Given the description of an element on the screen output the (x, y) to click on. 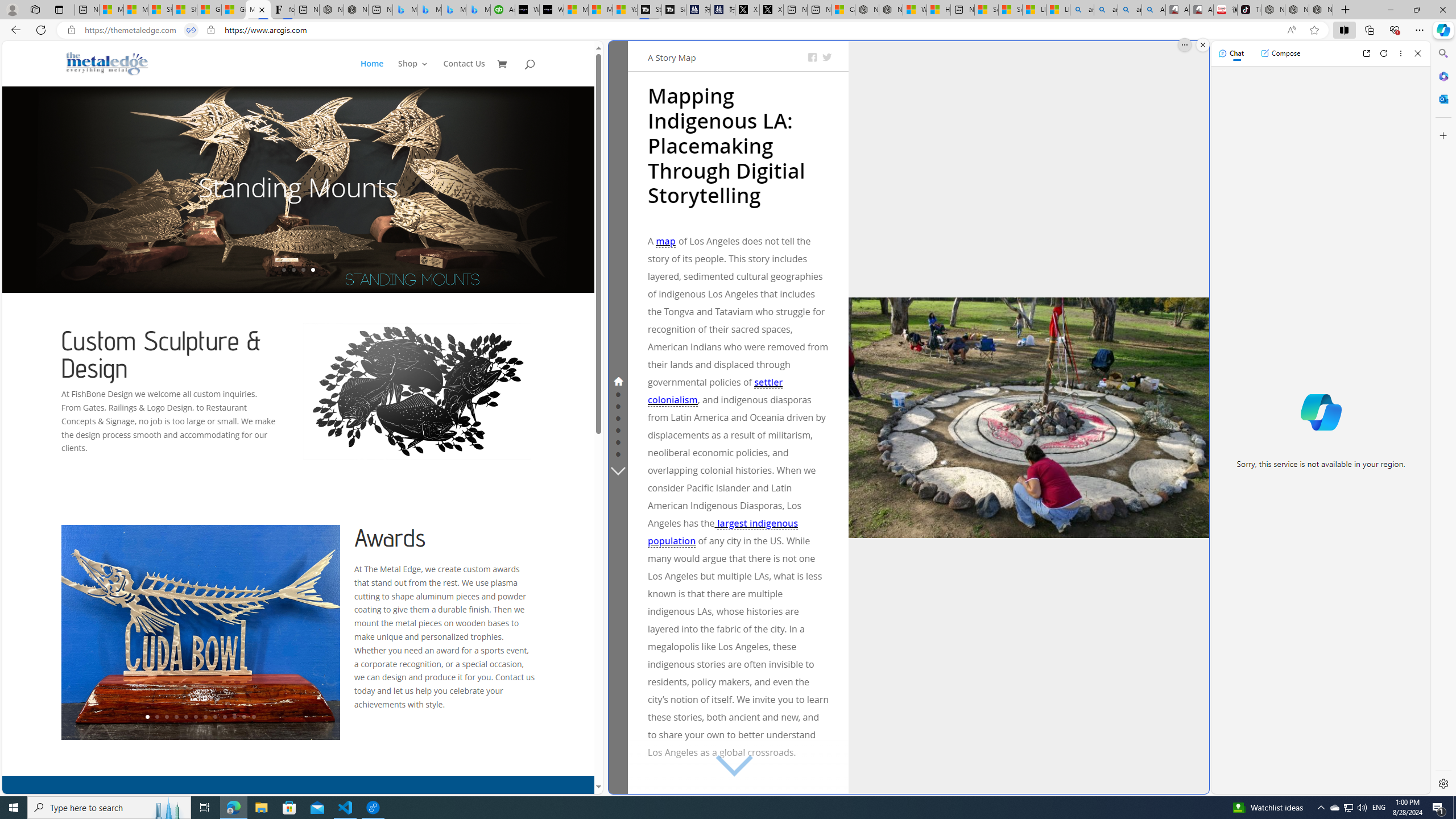
A Story Map (671, 57)
Microsoft 365 (1442, 76)
Open link in new tab (1366, 53)
Tabs in split screen (190, 29)
Chat (1231, 52)
Search (1442, 53)
Wildlife - MSN (914, 9)
4 (176, 716)
Compose (1280, 52)
1 (147, 716)
Split screen (1344, 29)
Side bar (1443, 418)
Gilma and Hector both pose tropical trouble for Hawaii (233, 9)
Close (1417, 53)
12 (253, 716)
